Given the description of an element on the screen output the (x, y) to click on. 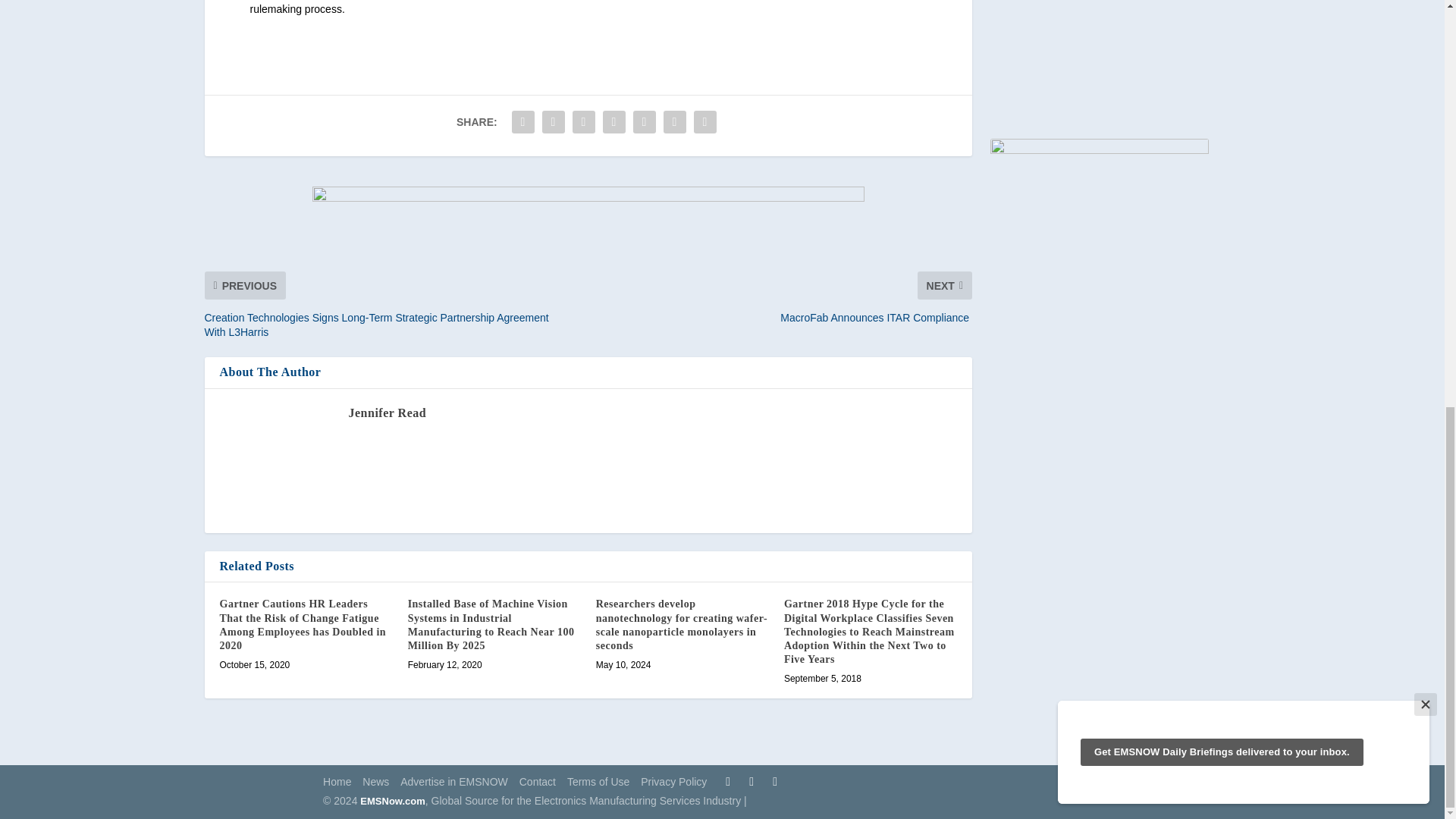
View all posts by Jennifer Read (387, 412)
EMSNow.com (392, 800)
